Given the description of an element on the screen output the (x, y) to click on. 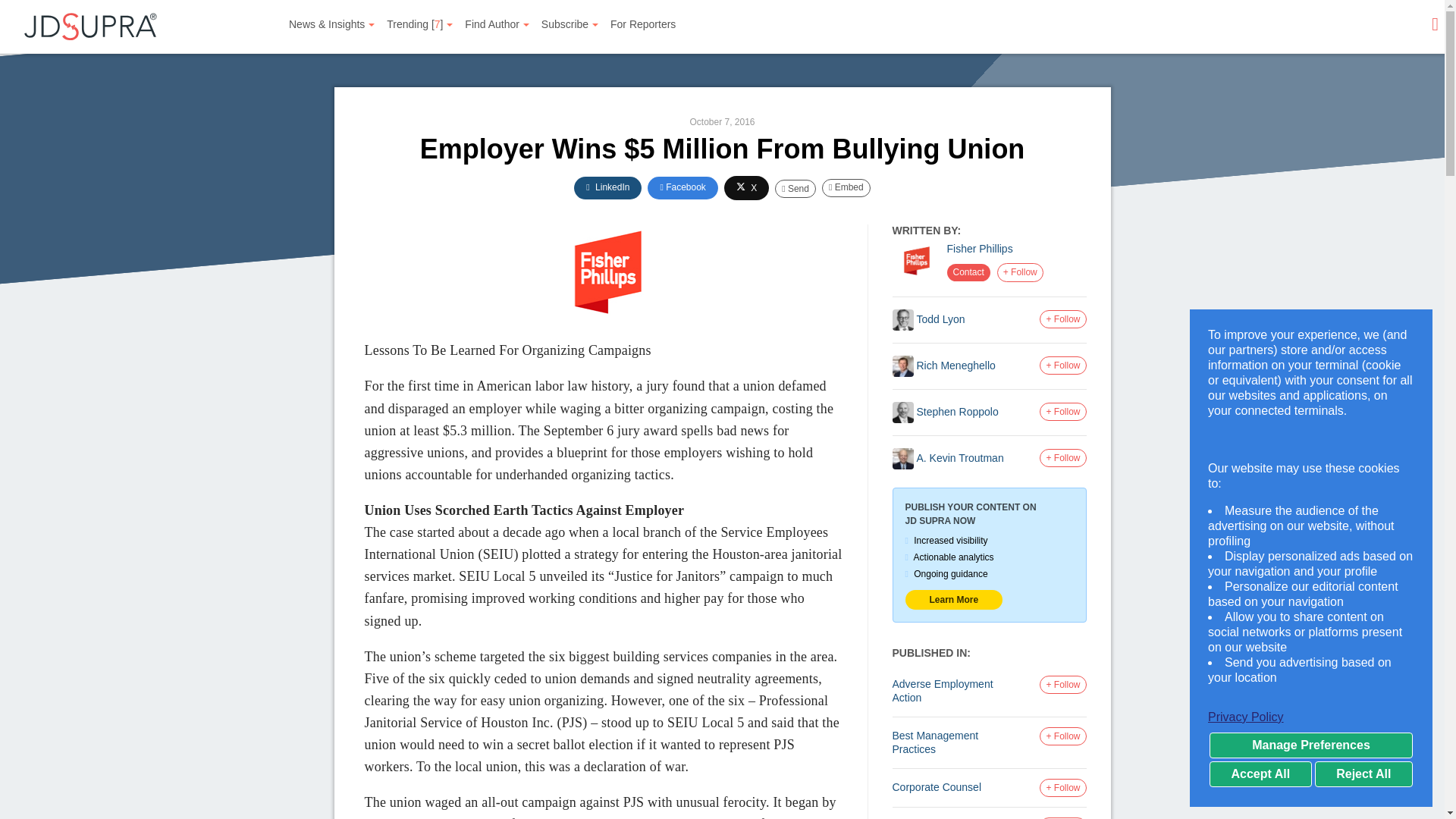
Accept All (1260, 774)
Find Author (496, 23)
Manage Preferences (1310, 745)
Privacy Policy (1310, 717)
Reject All (1363, 774)
